Given the description of an element on the screen output the (x, y) to click on. 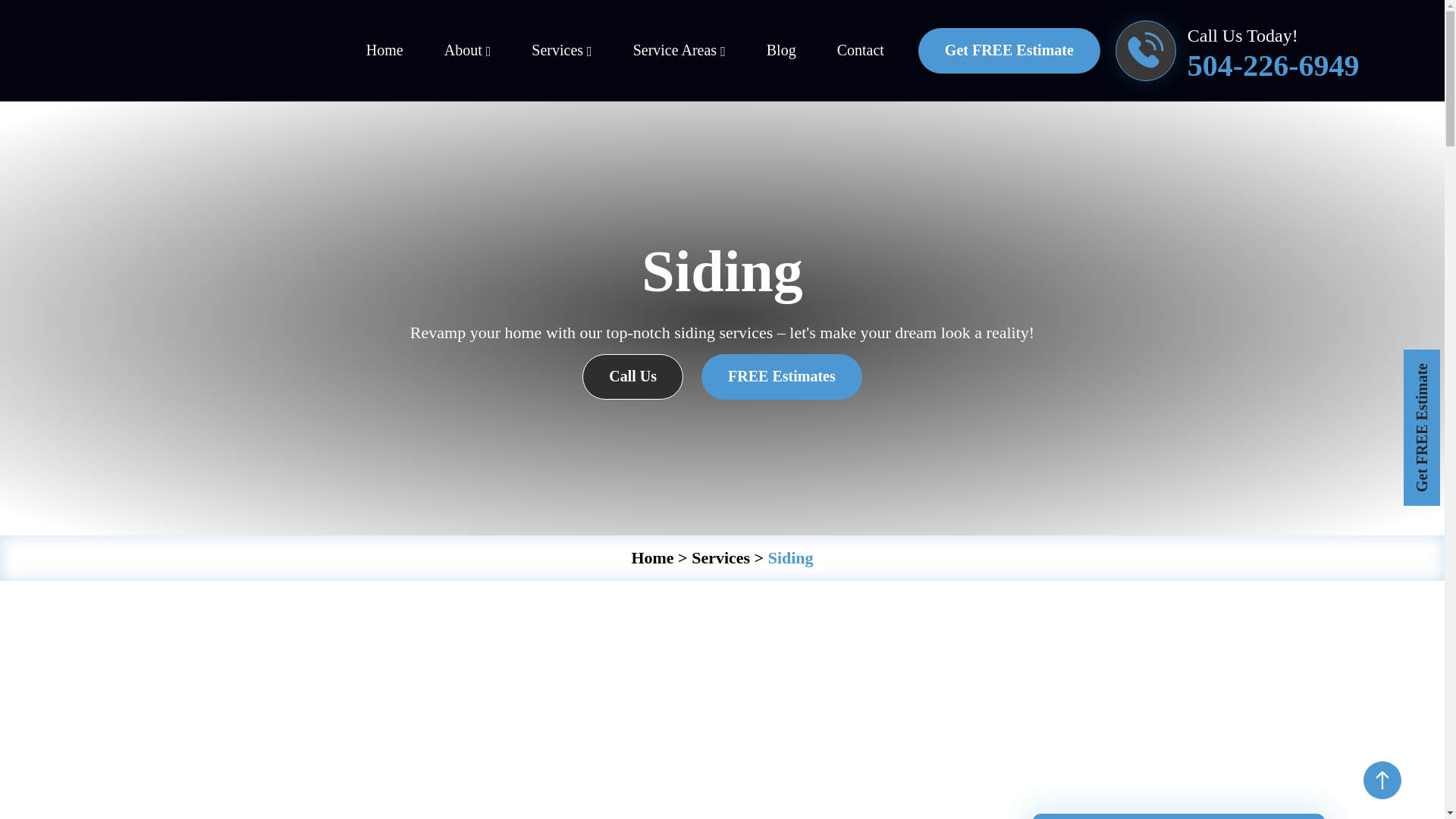
Services (561, 50)
About (468, 50)
Get A Free Estimate! Sidebar (1178, 716)
